Given the description of an element on the screen output the (x, y) to click on. 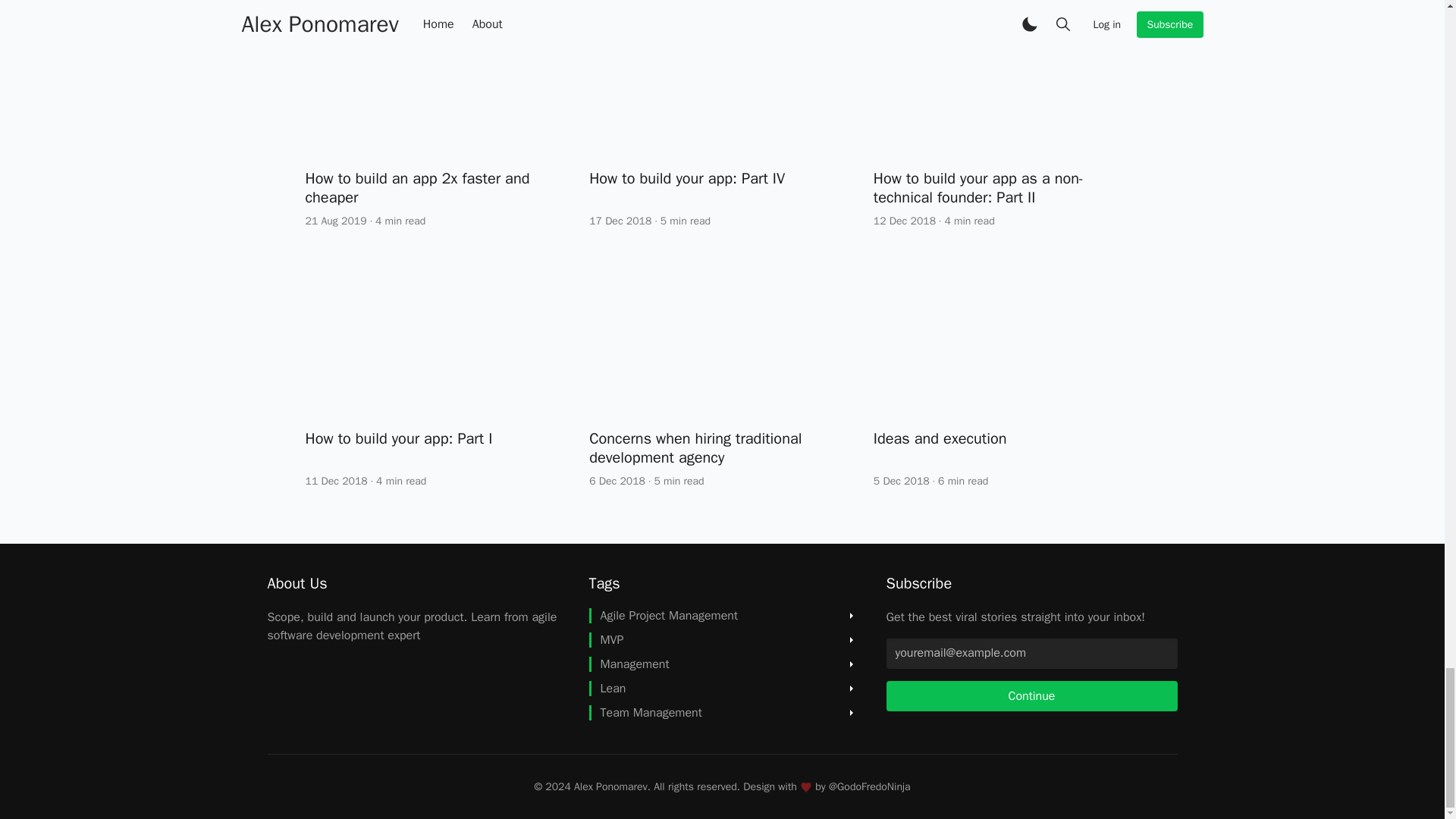
4 min read (968, 220)
Updated 12 Dec 2018 (904, 220)
Agile Project Management (663, 615)
Updated 11 Dec 2018 (335, 480)
Updated 3 Jan 2019 (617, 480)
Updated 20 Nov 2019 (335, 220)
5 min read (685, 220)
4 min read (400, 220)
Team Management (644, 712)
Management (628, 663)
